Given the description of an element on the screen output the (x, y) to click on. 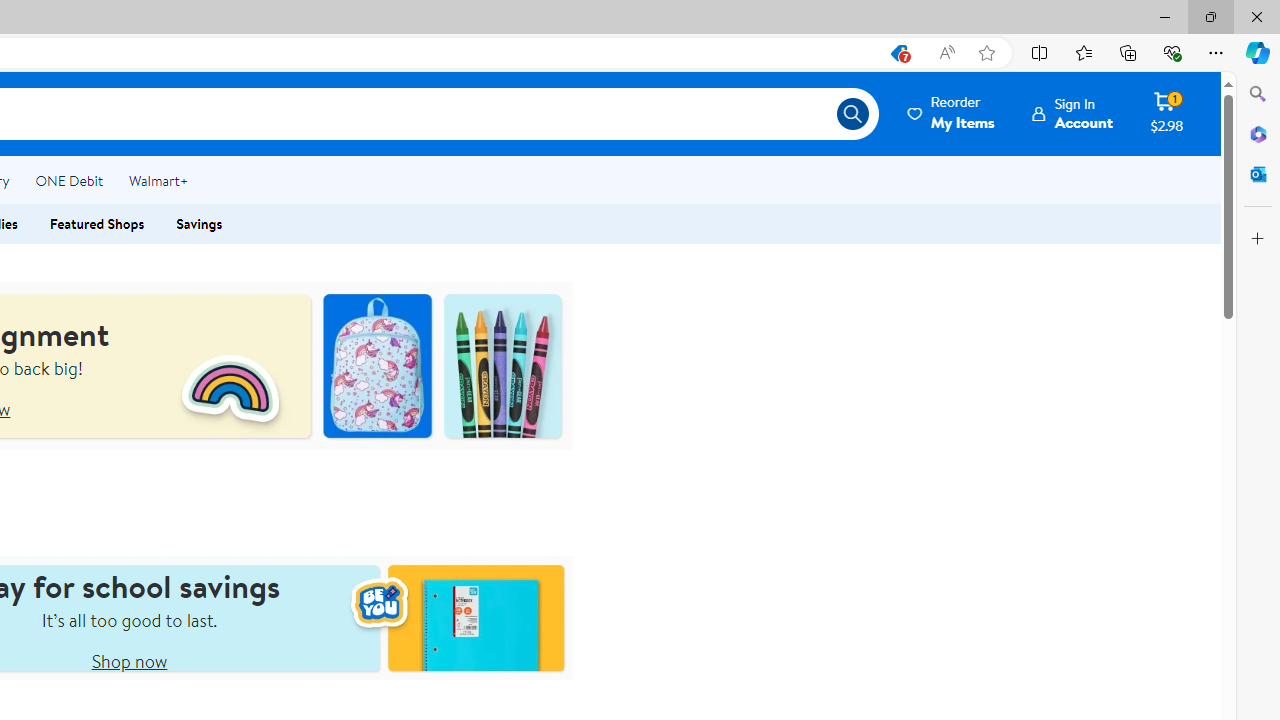
ONE Debit (68, 180)
Search icon (852, 113)
Walmart+ (158, 180)
ONE Debit (68, 180)
Reorder My Items (952, 113)
ReorderMy Items (952, 113)
Shop now (128, 660)
This site has coupons! Shopping in Microsoft Edge, 7 (898, 53)
